Given the description of an element on the screen output the (x, y) to click on. 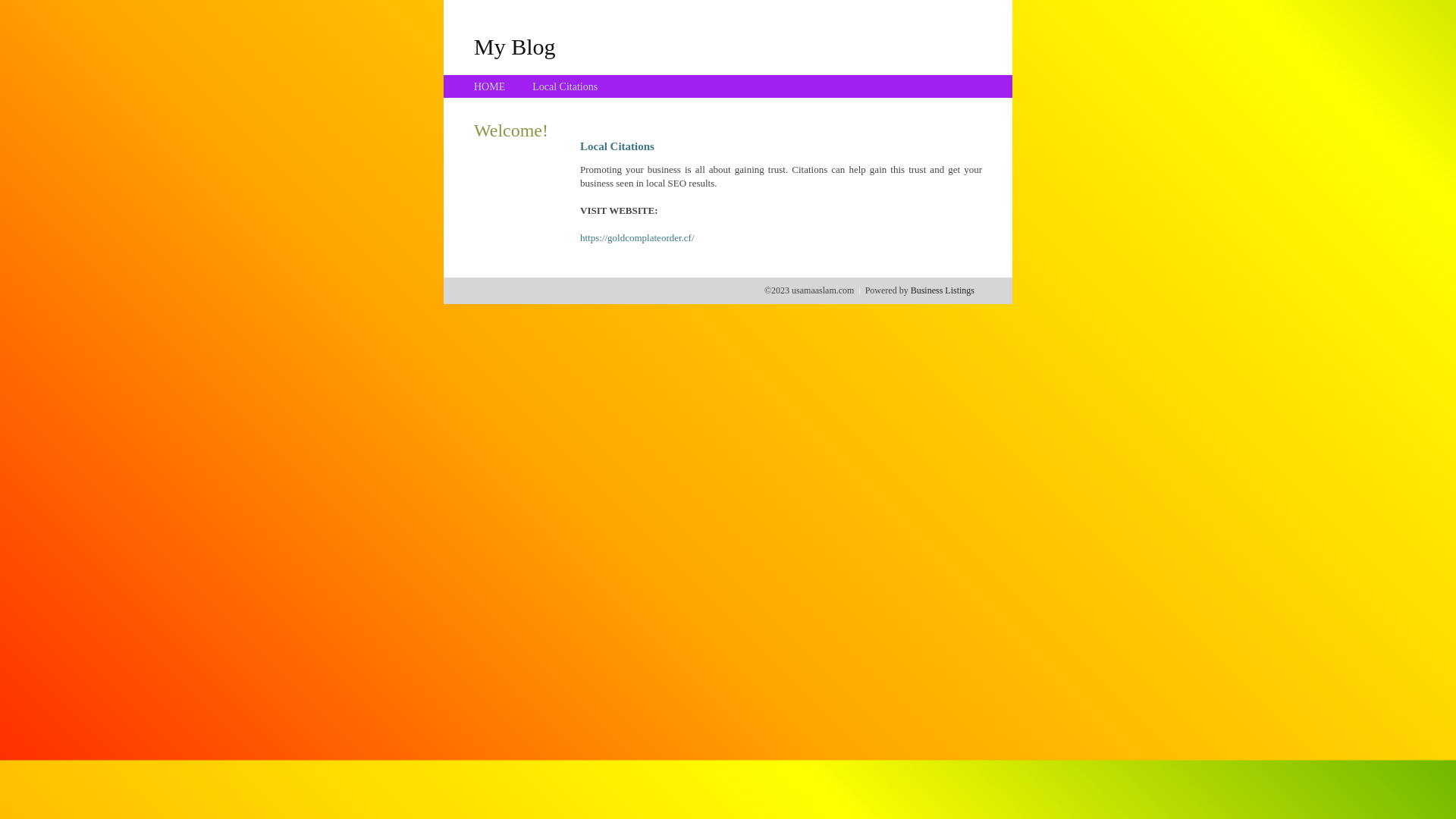
My Blog Element type: text (514, 46)
Local Citations Element type: text (564, 86)
Business Listings Element type: text (942, 290)
HOME Element type: text (489, 86)
https://goldcomplateorder.cf/ Element type: text (637, 237)
